Given the description of an element on the screen output the (x, y) to click on. 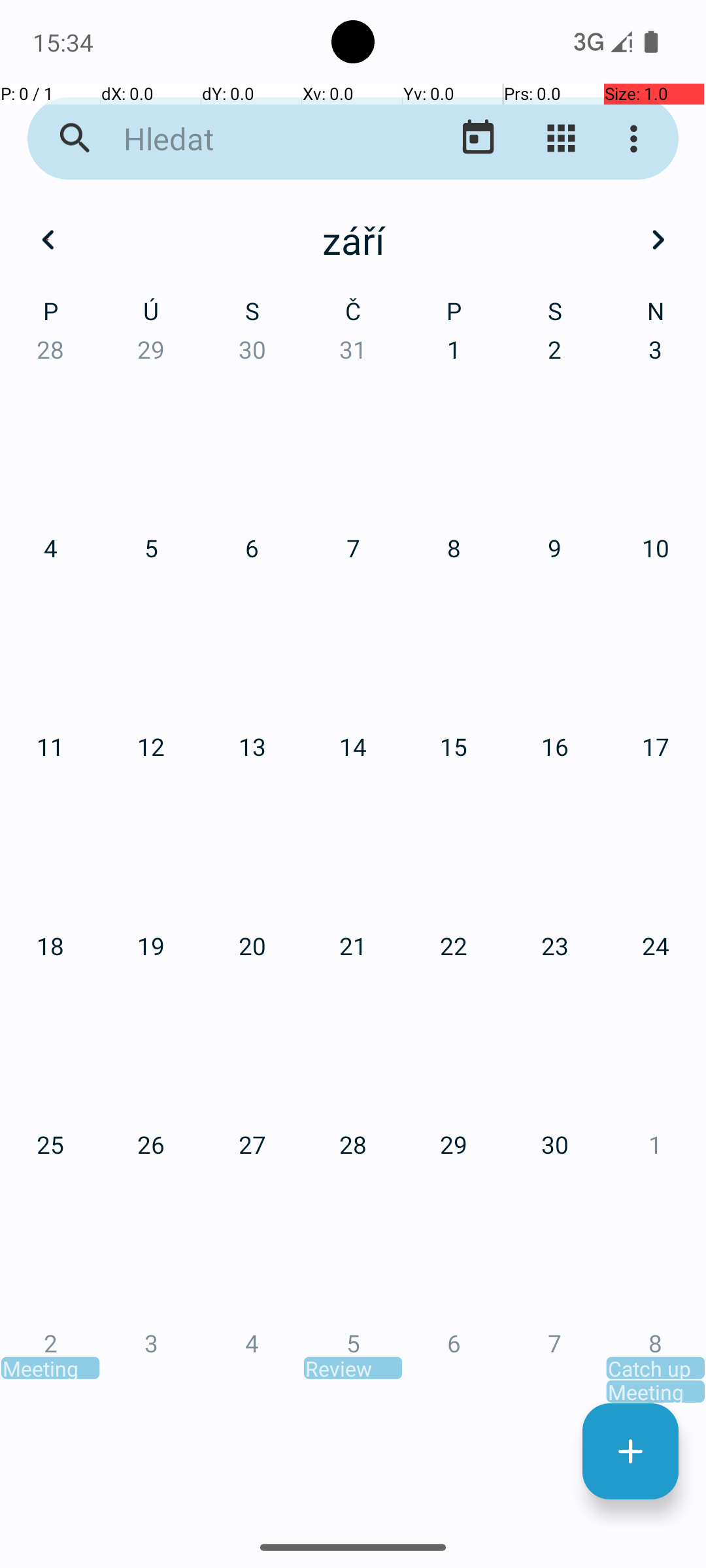
Přejít na dnešní datum Element type: android.widget.Button (477, 138)
září Element type: android.widget.TextView (352, 239)
